Given the description of an element on the screen output the (x, y) to click on. 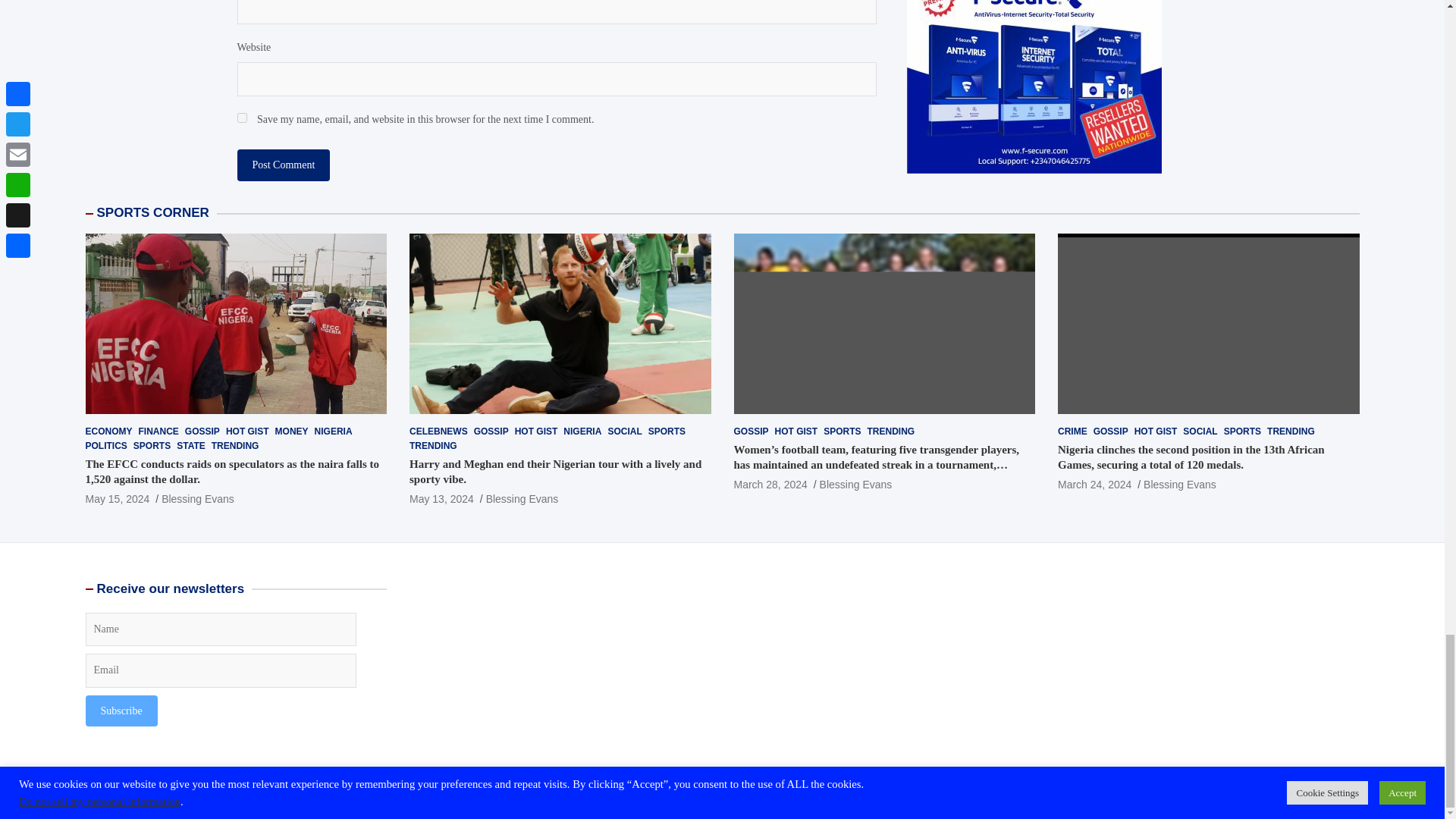
yes (240, 117)
Subscribe (120, 710)
Post Comment (282, 164)
